Given the description of an element on the screen output the (x, y) to click on. 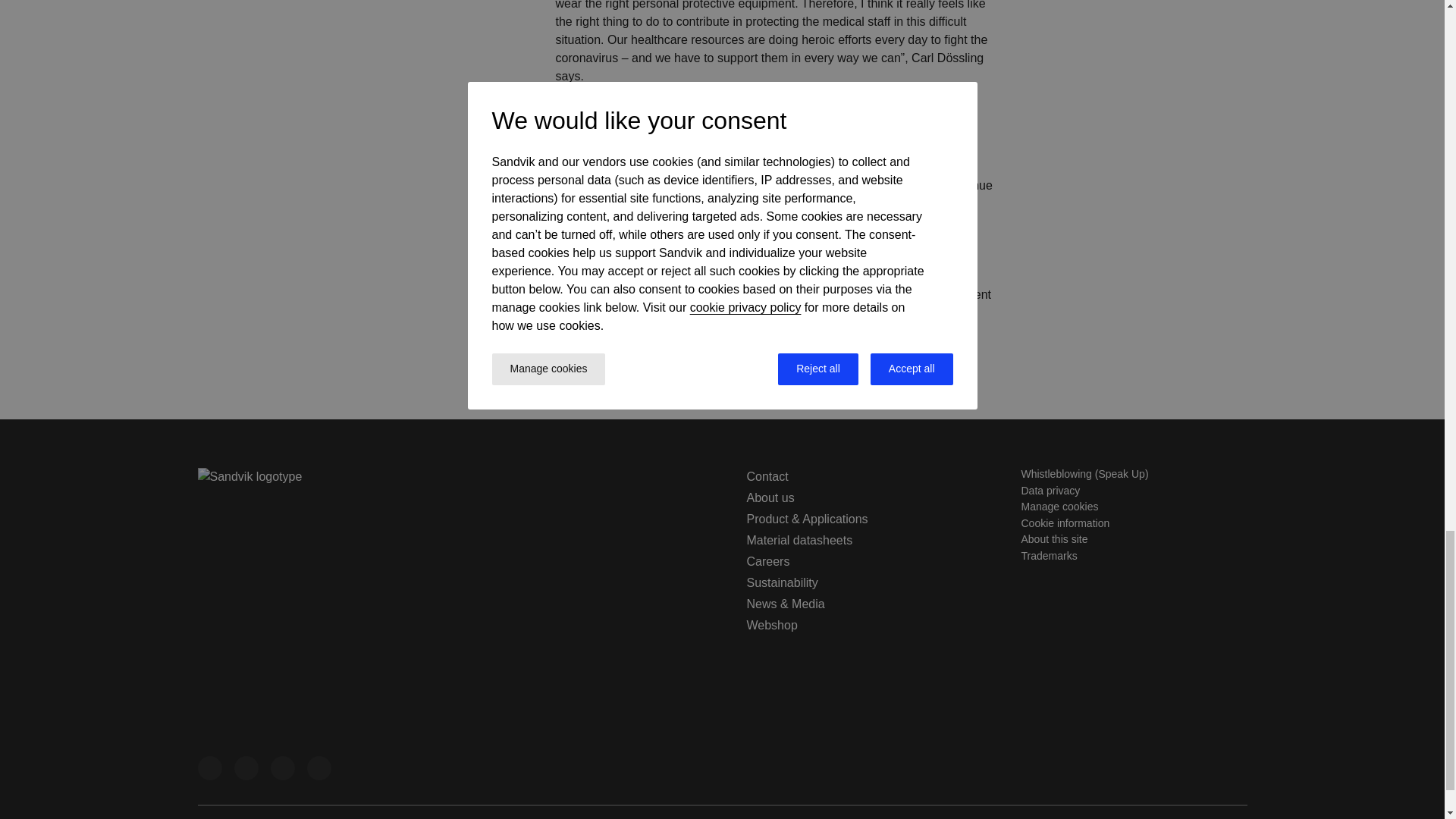
Data privacy (1050, 490)
LinkedIn (208, 767)
Sustainability (780, 582)
About this site (1053, 539)
Careers (767, 561)
Cookie information (1064, 522)
Webshop (770, 625)
Facebook (244, 767)
Material datasheets (798, 540)
Manage cookies (1058, 506)
